Given the description of an element on the screen output the (x, y) to click on. 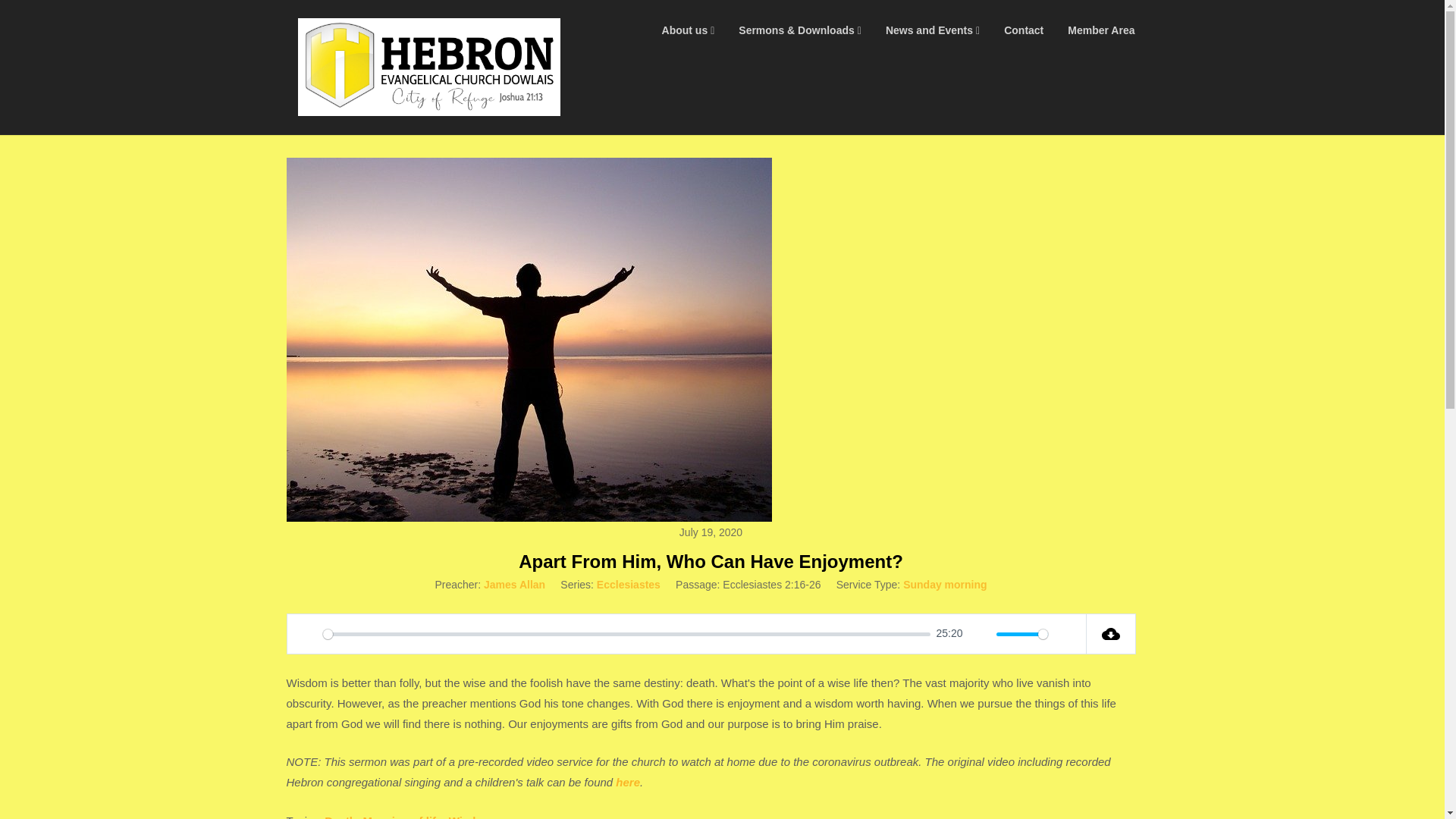
Download Audio File (1110, 633)
Contact (1023, 30)
0 (626, 634)
Meaning of life (402, 816)
Settings (1066, 633)
1 (1021, 634)
About us (687, 30)
Mute (980, 633)
Ecclesiastes (628, 584)
Member Area (1101, 30)
